Given the description of an element on the screen output the (x, y) to click on. 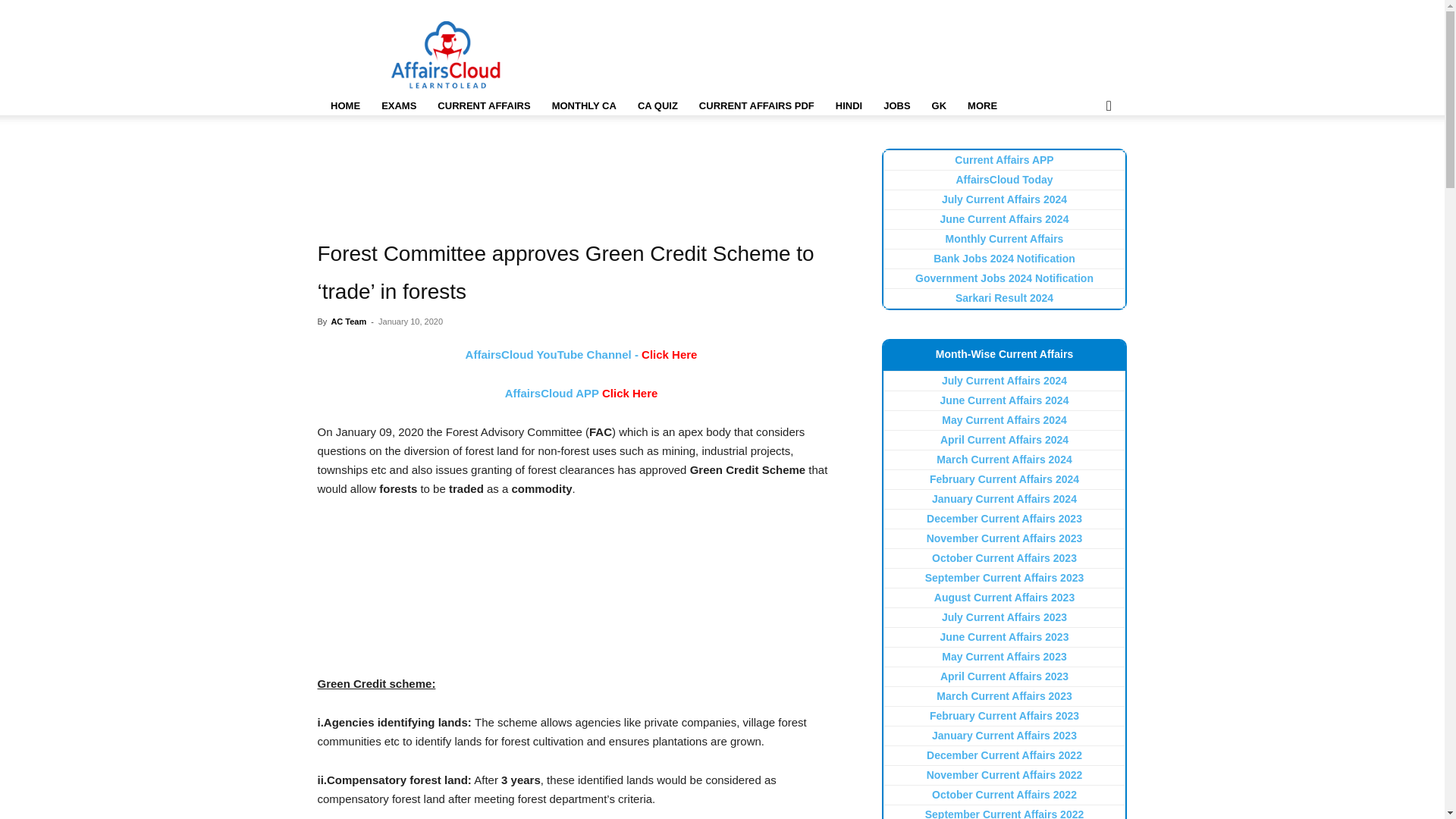
Current Affairs PDF (756, 105)
AffairsCloud (446, 55)
Home (344, 105)
Current Affairs (483, 105)
Current Affairs Hindi (848, 105)
Current Affairs Quiz (657, 105)
